Given the description of an element on the screen output the (x, y) to click on. 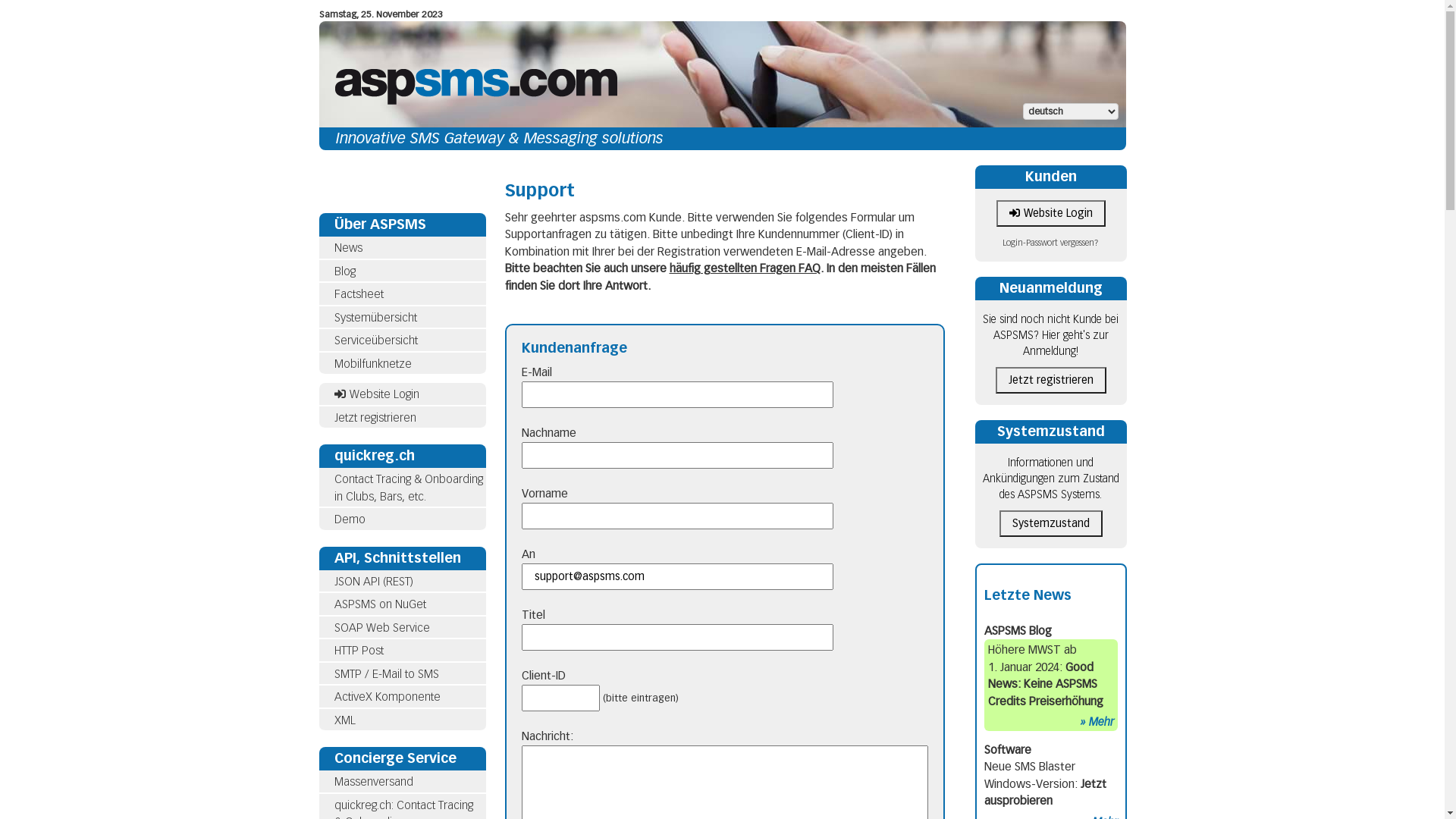
SOAP Web Service Element type: text (381, 626)
Systemzustand Element type: text (1050, 431)
Website Login Element type: text (1050, 213)
Neuanmeldung Element type: text (1050, 287)
Factsheet Element type: text (401, 294)
Demo Element type: text (401, 519)
Demo Element type: text (348, 519)
JSON API (REST) Element type: text (401, 581)
ASPSMS on NuGet Element type: text (401, 604)
SMTP / E-Mail to SMS Element type: text (401, 674)
JSON API (REST) Element type: text (372, 581)
ActiveX Komponente Element type: text (386, 696)
SOAP Web Service Element type: text (401, 627)
Jetzt registrieren Element type: text (1049, 380)
Mobilfunknetze Element type: text (372, 363)
Mobilfunknetze Element type: text (401, 363)
Jetzt registrieren Element type: text (401, 417)
HTTP Post Element type: text (401, 650)
Blog Element type: text (343, 270)
quickreg.ch Element type: text (401, 455)
quickreg.ch Element type: text (373, 455)
News Element type: text (347, 247)
Massenversand Element type: text (401, 781)
Website Login Element type: text (375, 394)
News Element type: text (401, 248)
XML Element type: text (401, 719)
API, Schnittstellen Element type: text (401, 557)
Website Login Element type: text (401, 394)
HTTP Post Element type: text (357, 650)
Blog Element type: text (401, 270)
Factsheet Element type: text (357, 294)
XML Element type: text (343, 719)
Contact Tracing & Onboarding
in Clubs, Bars, etc. Element type: text (401, 487)
API, Schnittstellen Element type: text (396, 557)
Login-Passwort vergessen? Element type: text (1050, 242)
Kunden Element type: text (1050, 176)
Contact Tracing & Onboarding
in Clubs, Bars, etc. Element type: text (407, 487)
Systemzustand Element type: text (1050, 523)
Massenversand Element type: text (372, 781)
Jetzt registrieren Element type: text (374, 417)
SMTP / E-Mail to SMS Element type: text (385, 673)
ActiveX Komponente Element type: text (401, 697)
ASPSMS on NuGet Element type: text (379, 604)
